Given the description of an element on the screen output the (x, y) to click on. 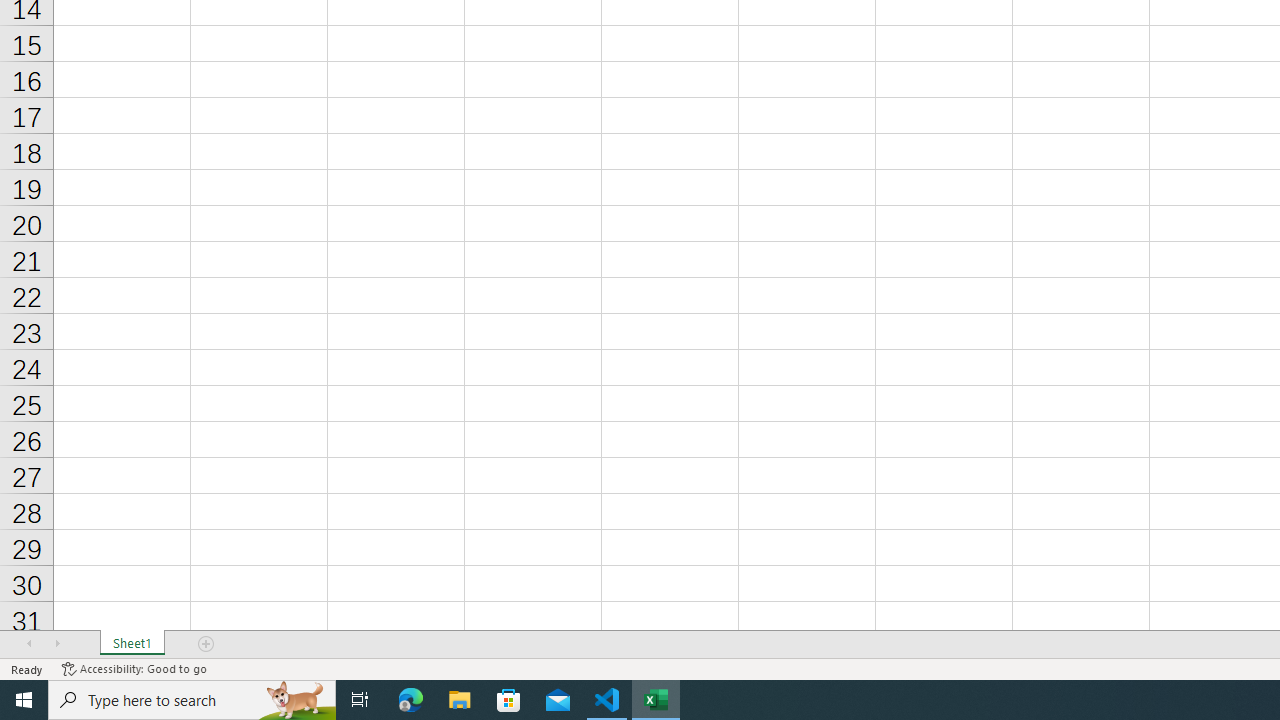
Scroll Left (29, 644)
Scroll Right (57, 644)
Sheet1 (132, 644)
Add Sheet (207, 644)
Accessibility Checker Accessibility: Good to go (134, 668)
